Given the description of an element on the screen output the (x, y) to click on. 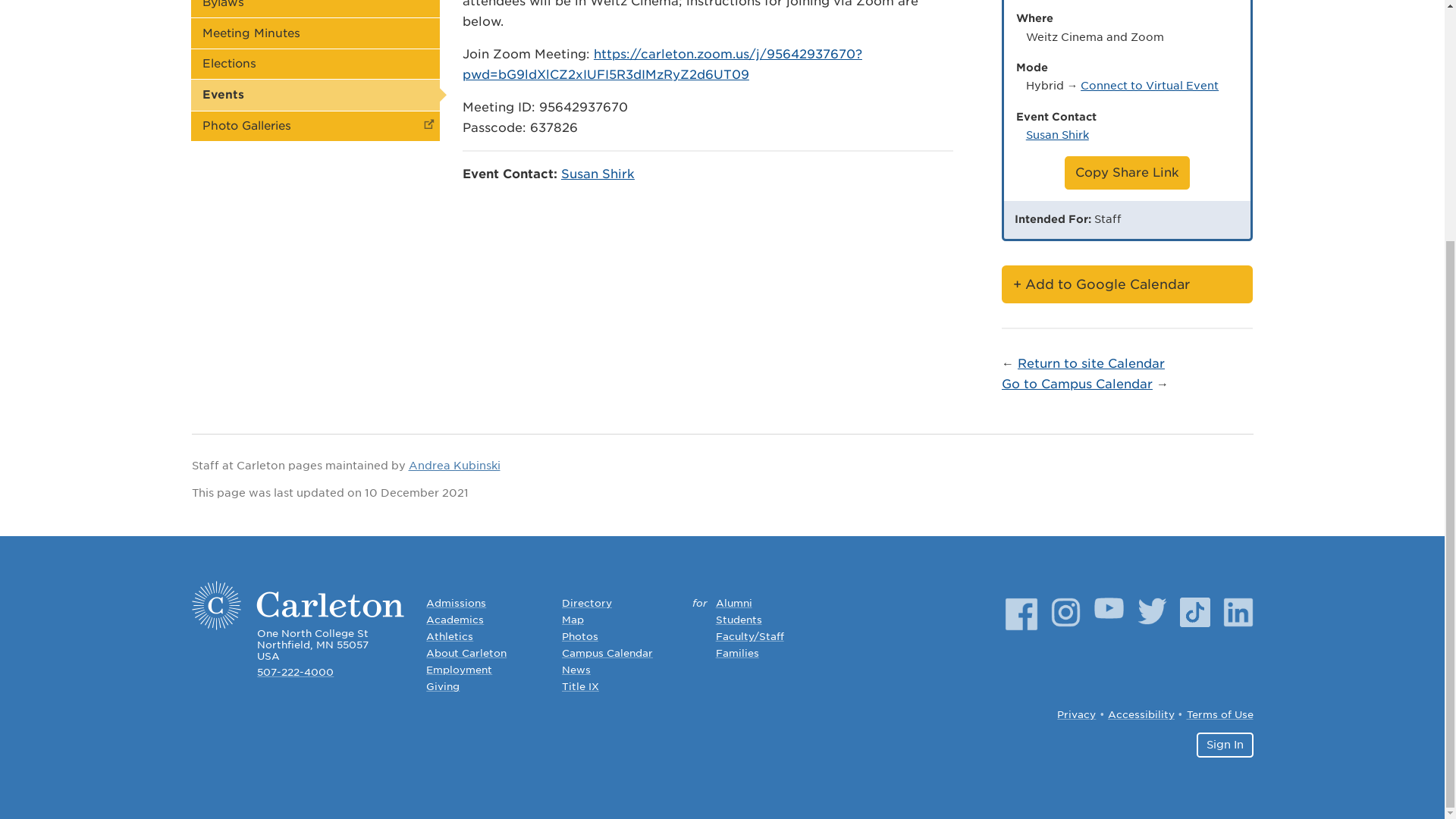
Elections (314, 63)
Return to site Calendar (1090, 363)
Susan Shirk (1057, 133)
Photo Galleries (314, 125)
Susan Shirk (597, 173)
Copy Share Link (1126, 173)
Connect to Virtual Event (1149, 84)
Bylaws (314, 8)
Meeting Minutes (314, 32)
Go to Campus Calendar (1077, 383)
